Given the description of an element on the screen output the (x, y) to click on. 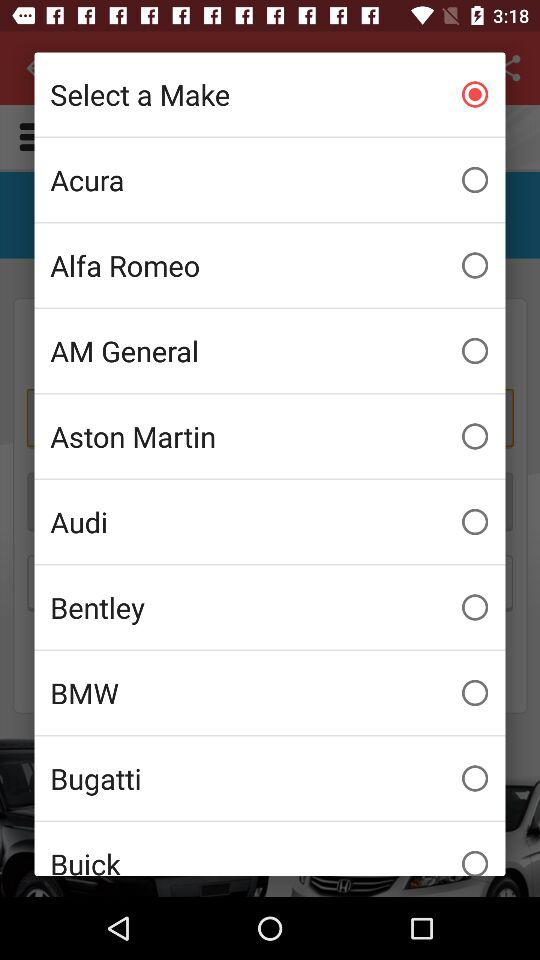
select icon below select a make item (269, 179)
